Given the description of an element on the screen output the (x, y) to click on. 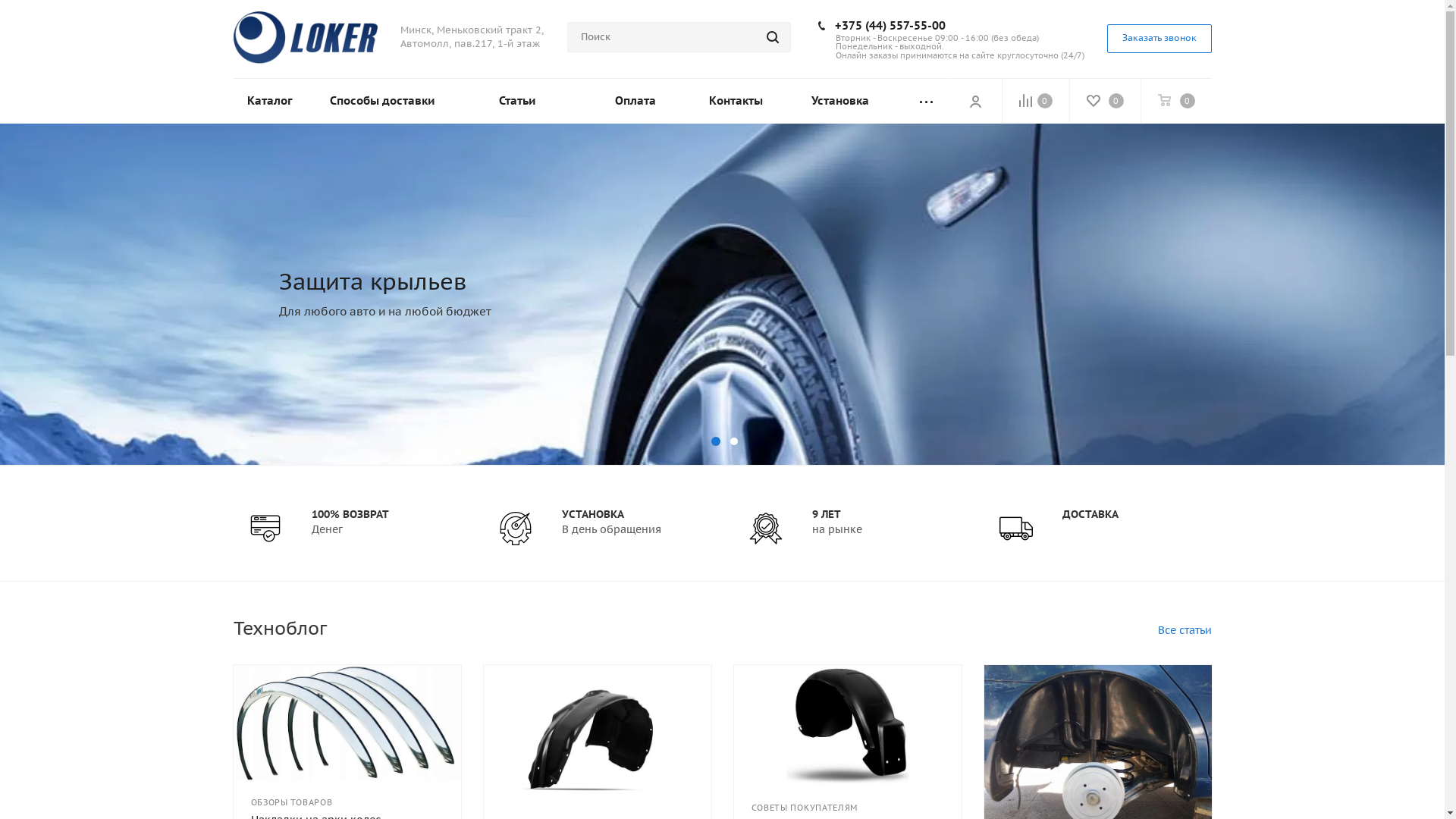
+375 (44) 557-55-00 Element type: text (889, 25)
1 Element type: text (715, 440)
0 Element type: text (1035, 100)
2 Element type: text (733, 440)
LOKER Element type: hover (305, 37)
0 Element type: text (1104, 100)
0 Element type: text (1175, 100)
